Given the description of an element on the screen output the (x, y) to click on. 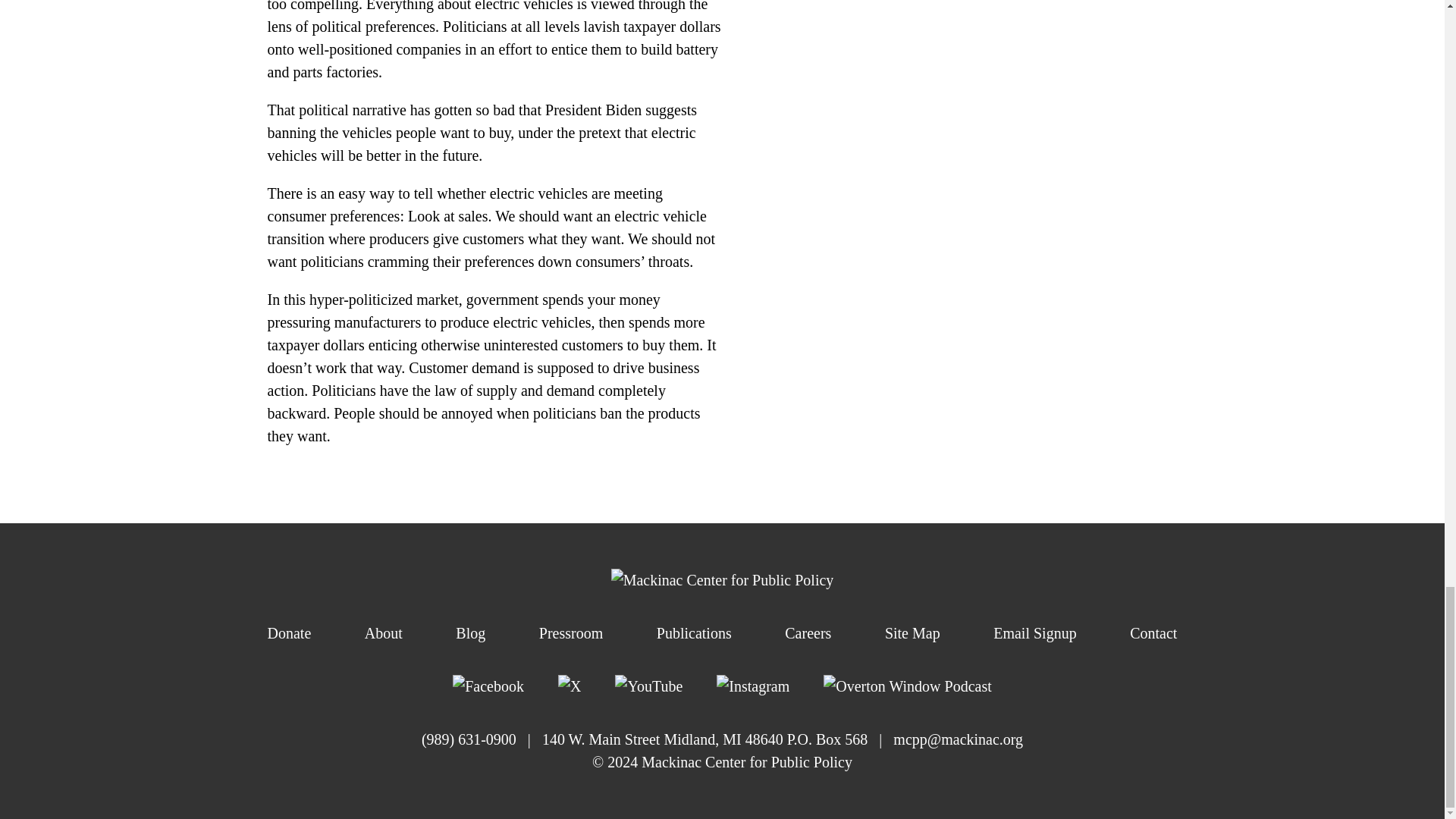
Donate (288, 632)
Contact (1152, 632)
Pressroom (570, 632)
About (384, 632)
Careers (807, 632)
Blog (469, 632)
Site Map (912, 632)
Publications (694, 632)
Email Signup (1033, 632)
